Given the description of an element on the screen output the (x, y) to click on. 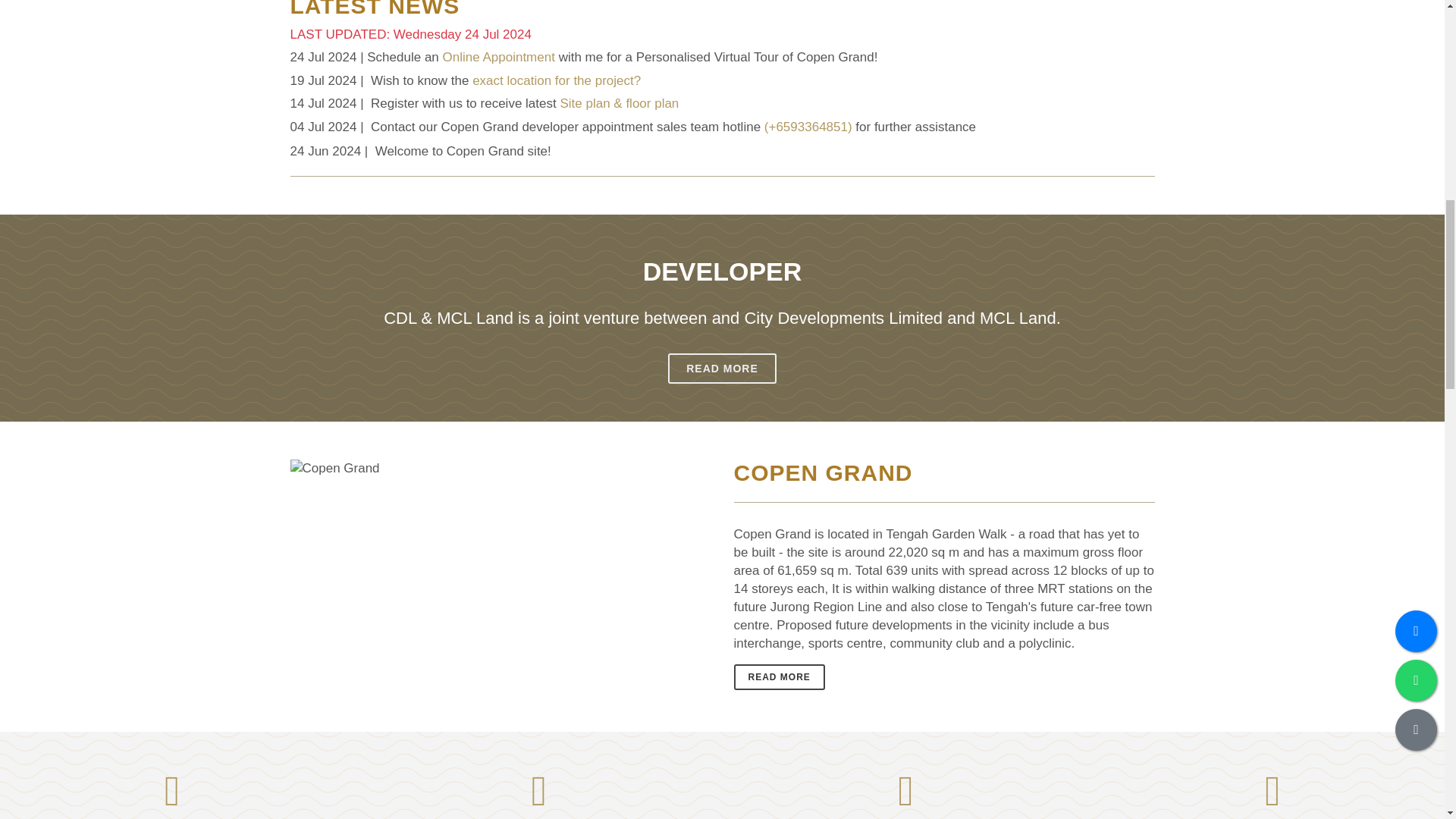
READ MORE (779, 677)
READ MORE (722, 368)
exact location for the project? (555, 80)
Online Appointment (498, 56)
